Given the description of an element on the screen output the (x, y) to click on. 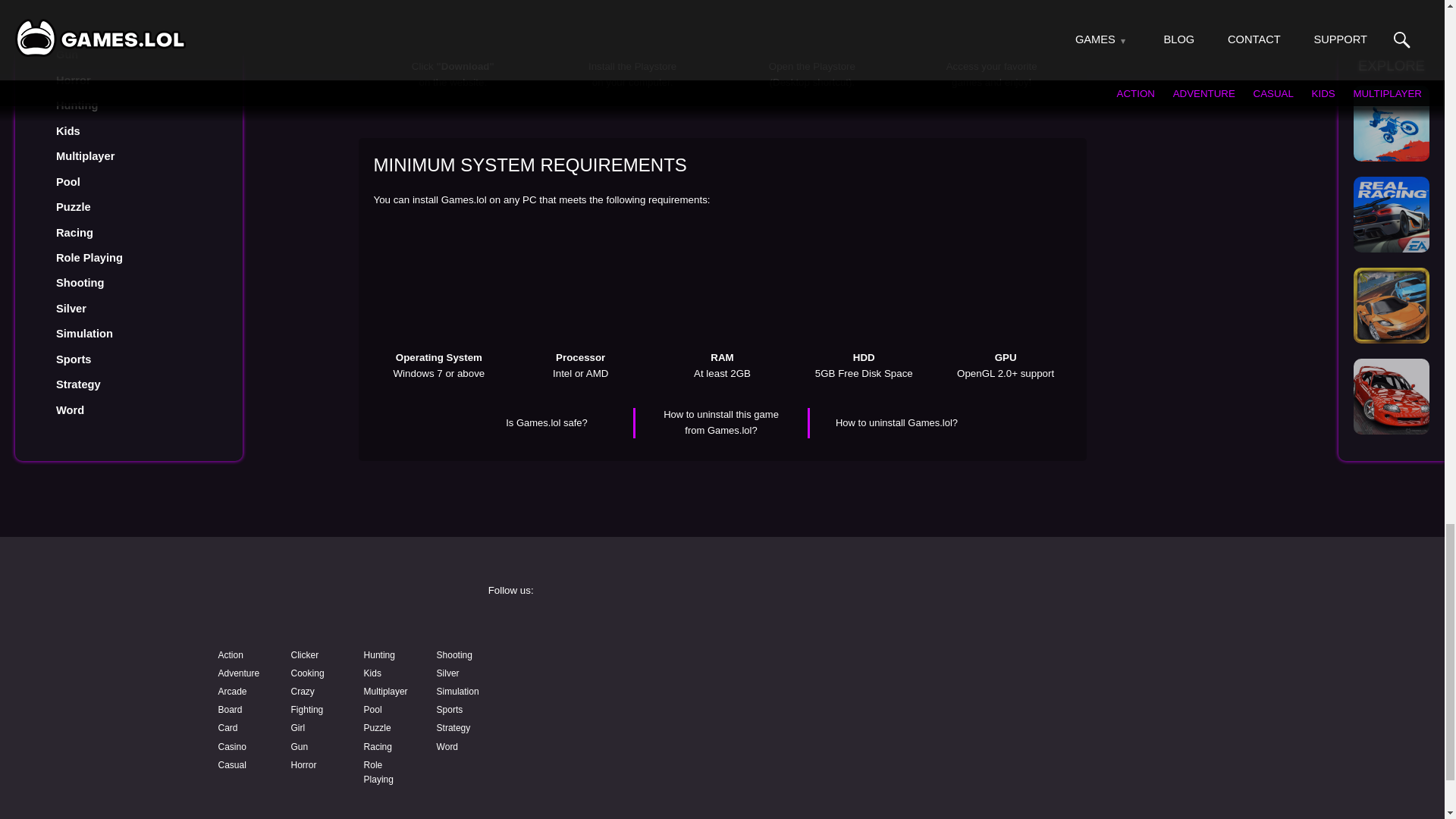
Discord (838, 665)
Twitter (1073, 626)
Pinterest (1073, 665)
Instagram (838, 626)
YouTube (603, 665)
Games.lol free game download website logo (319, 605)
Facebook (603, 626)
